Given the description of an element on the screen output the (x, y) to click on. 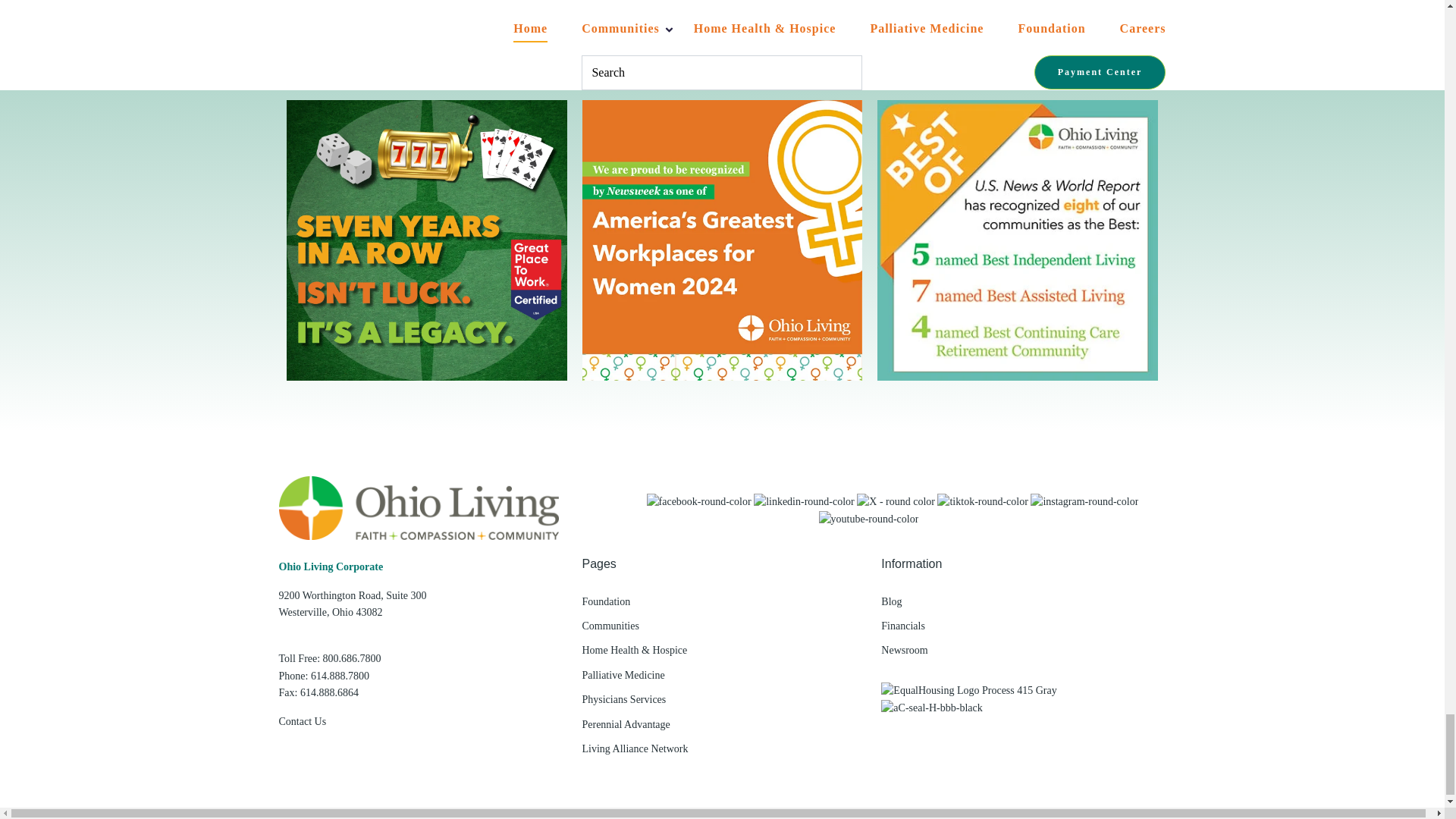
OL-Corporate RGB 4C (419, 507)
